Given the description of an element on the screen output the (x, y) to click on. 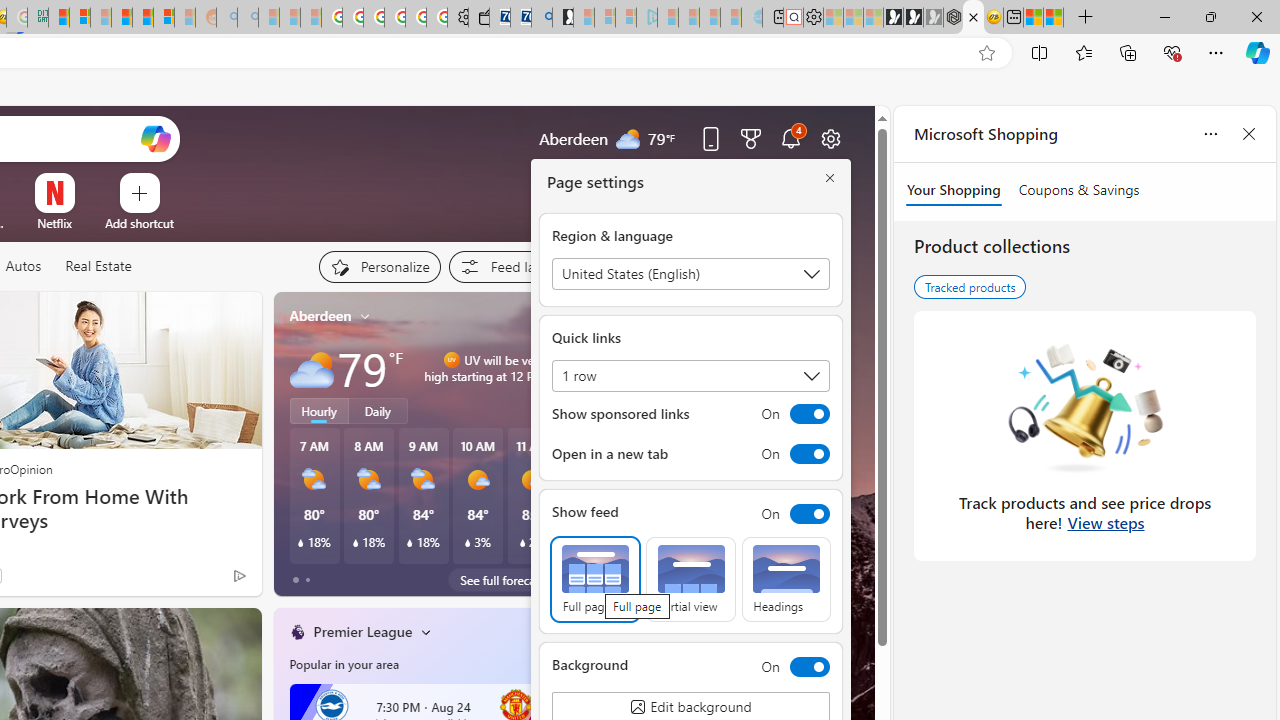
Utah sues federal government - Search - Sleeping (248, 17)
Mostly cloudy (311, 368)
MSNBC - MSN (58, 17)
Microsoft account | Privacy - Sleeping (625, 17)
Cheap Car Rentals - Save70.com (520, 17)
Hourly (319, 411)
